Given the description of an element on the screen output the (x, y) to click on. 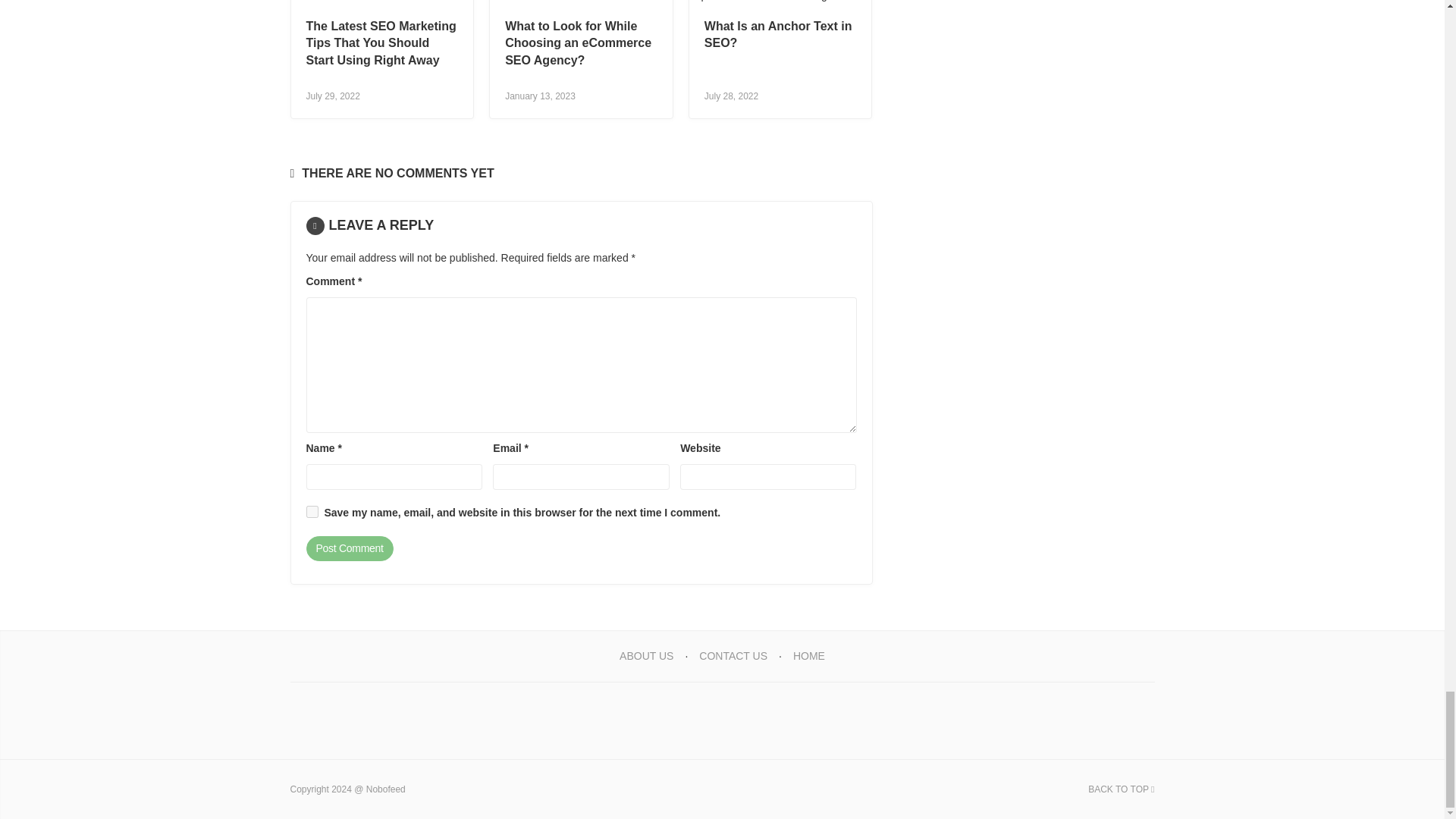
Post Comment (349, 548)
BACK TO TOP  (1120, 789)
yes (311, 511)
